Given the description of an element on the screen output the (x, y) to click on. 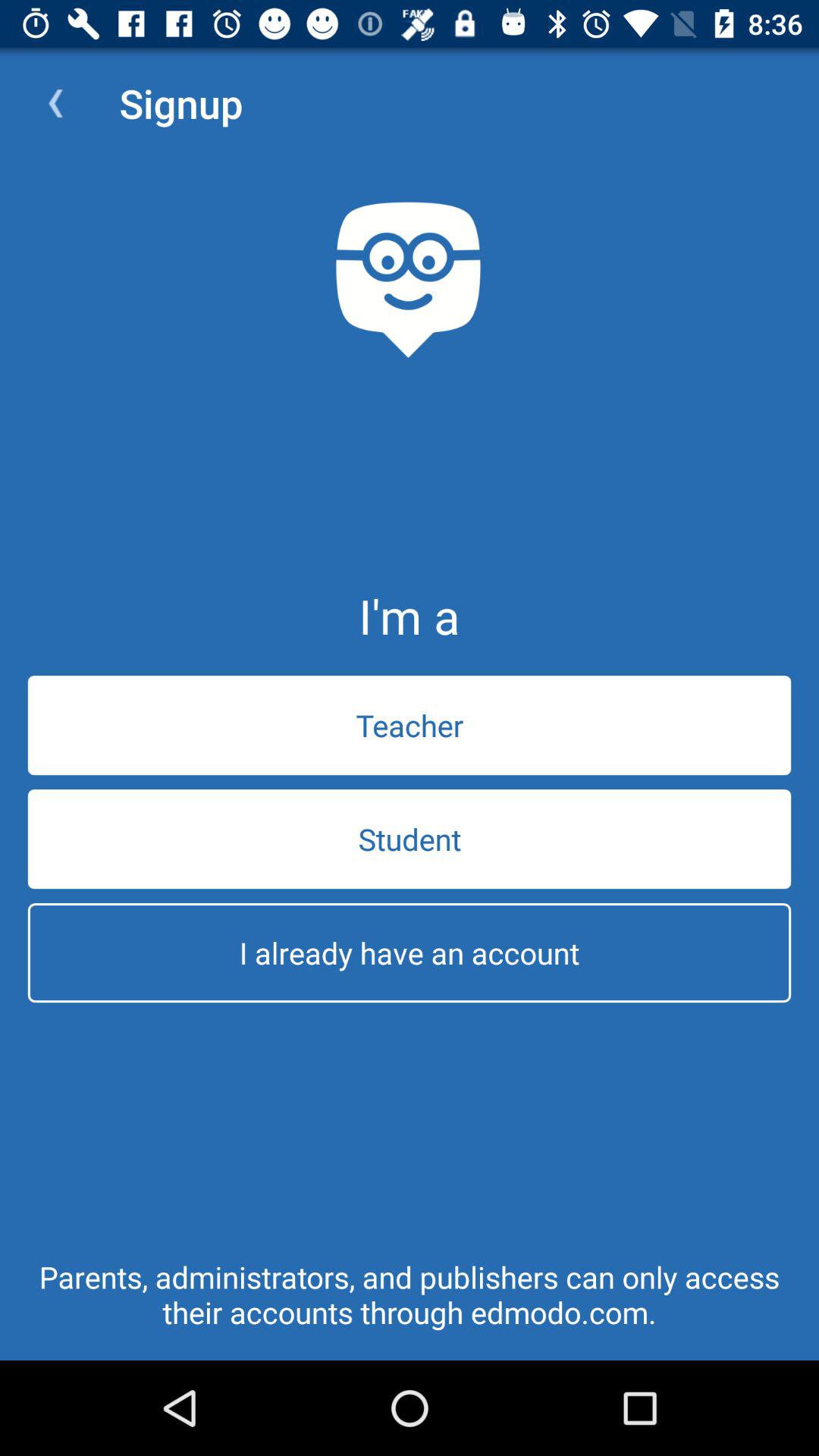
flip to the i already have icon (409, 952)
